Given the description of an element on the screen output the (x, y) to click on. 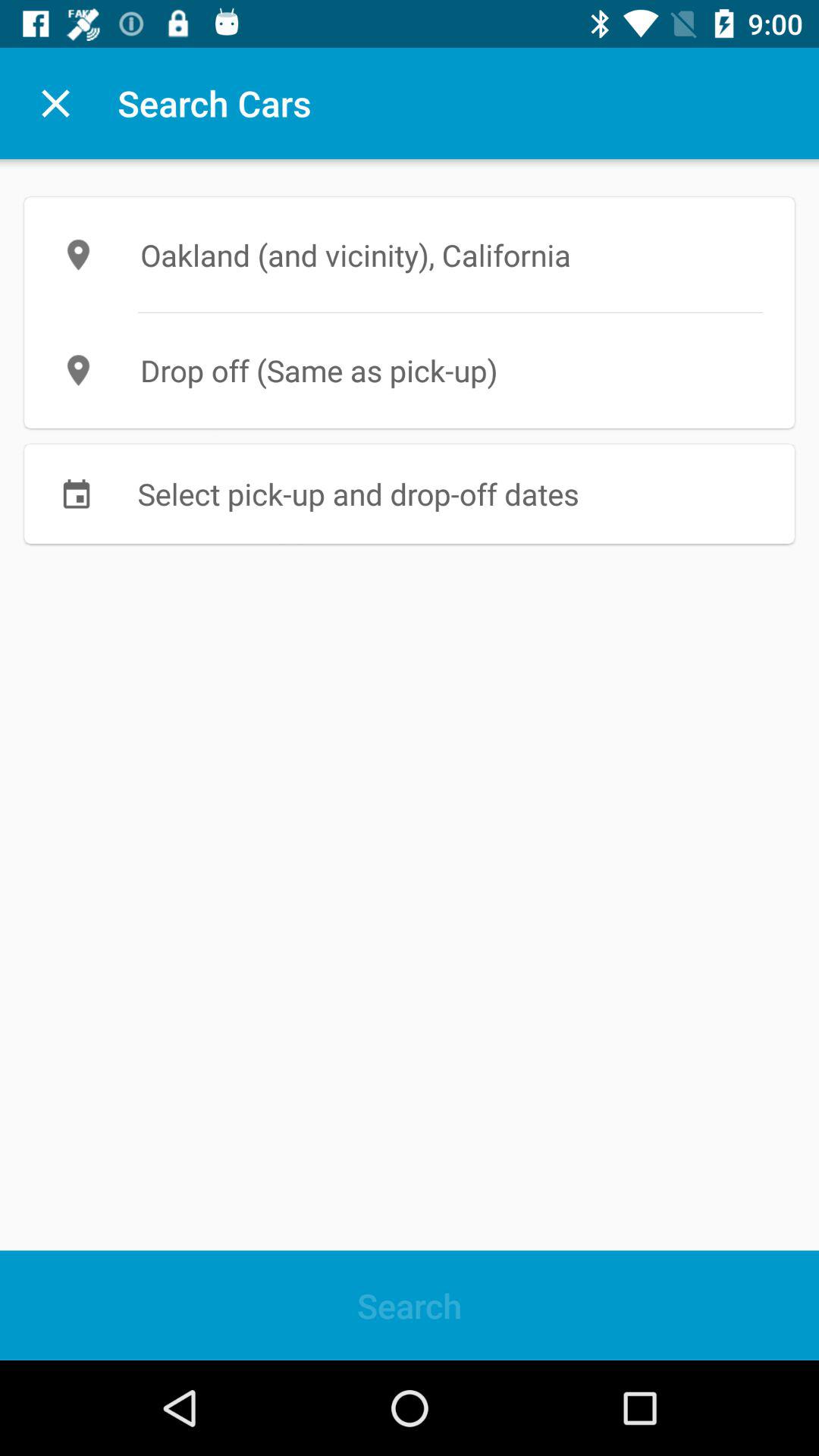
turn off oakland and vicinity icon (409, 254)
